Given the description of an element on the screen output the (x, y) to click on. 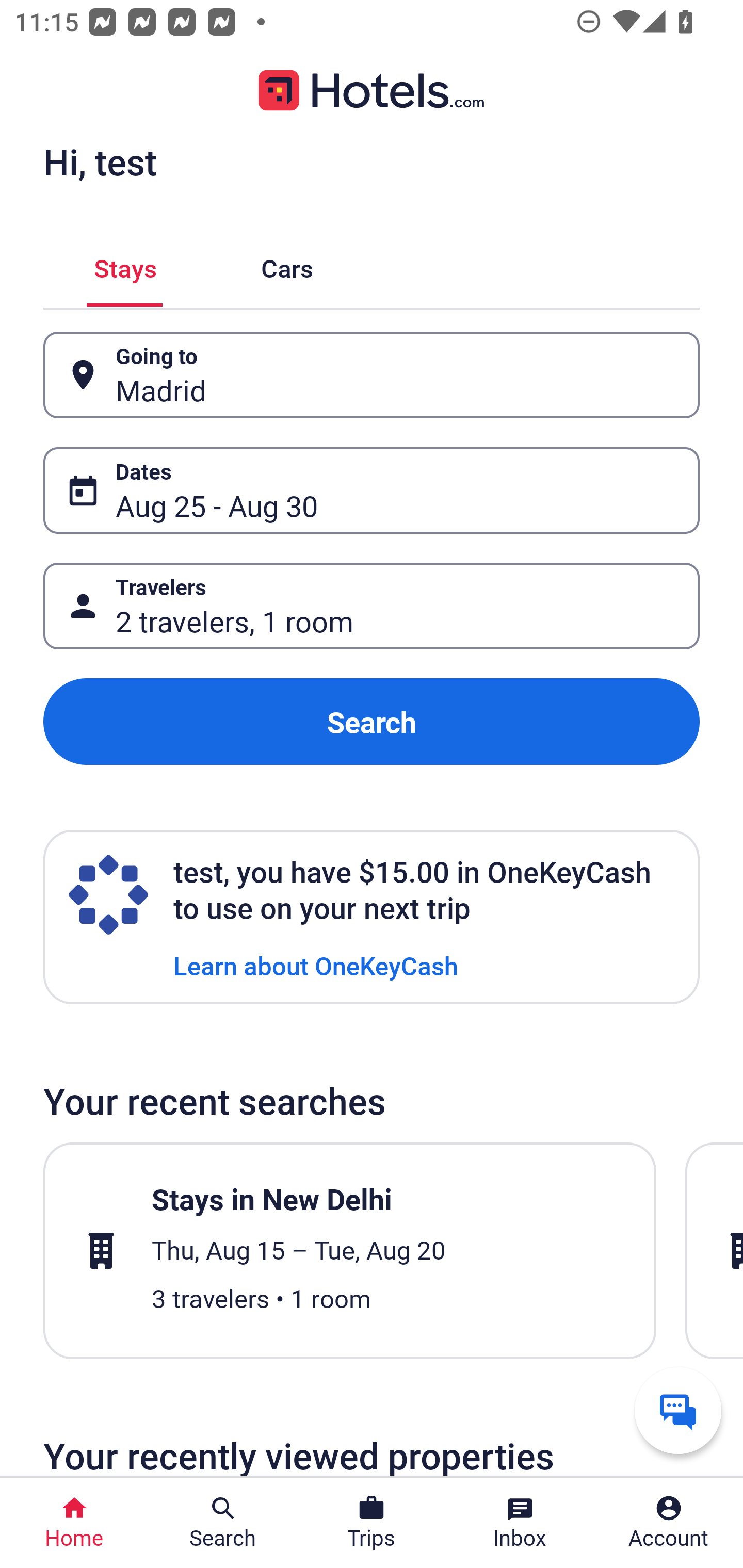
Hi, test (99, 161)
Cars (286, 265)
Going to Button Madrid (371, 375)
Dates Button Aug 25 - Aug 30 (371, 489)
Travelers Button 2 travelers, 1 room (371, 605)
Search (371, 721)
Learn about OneKeyCash Learn about OneKeyCash Link (315, 964)
Get help from a virtual agent (677, 1410)
Search Search Button (222, 1522)
Trips Trips Button (371, 1522)
Inbox Inbox Button (519, 1522)
Account Profile. Button (668, 1522)
